Given the description of an element on the screen output the (x, y) to click on. 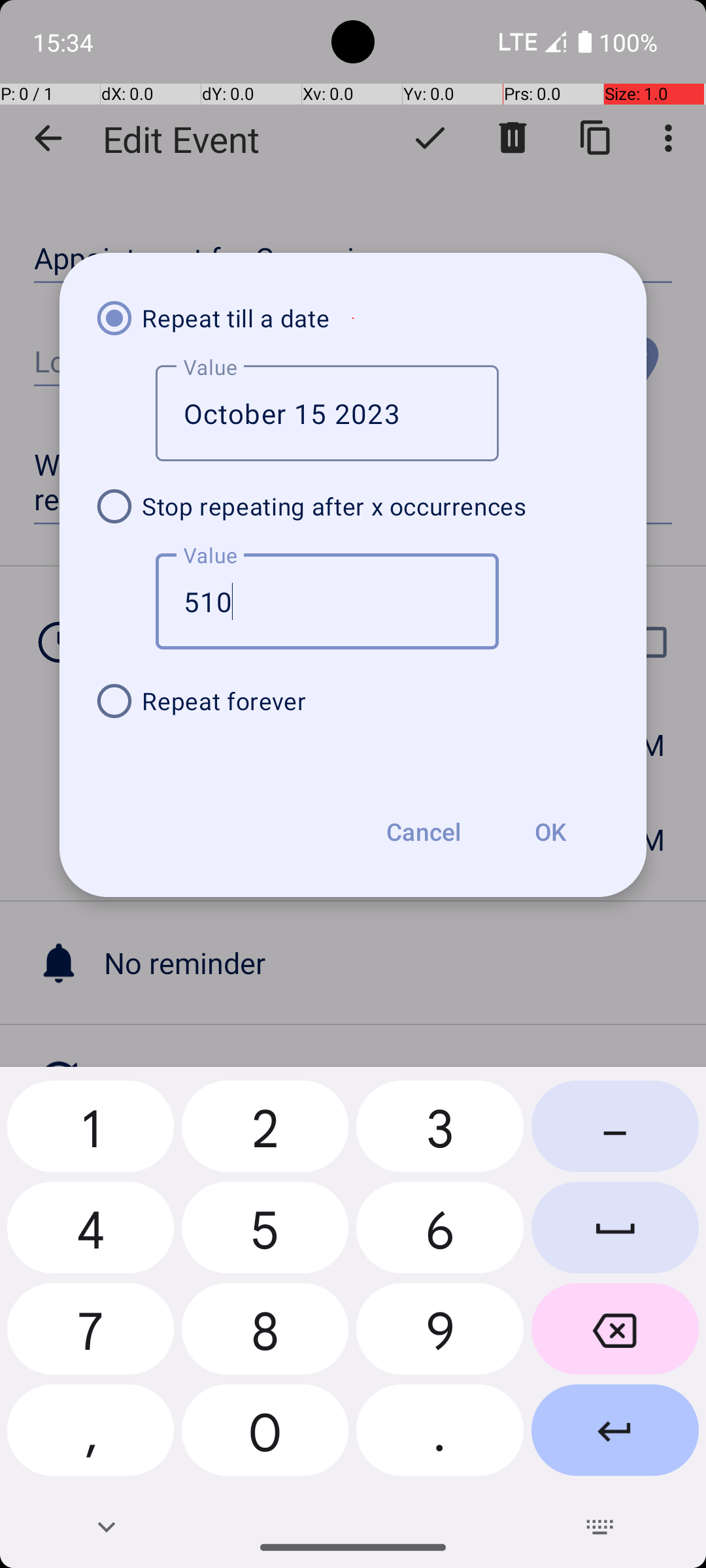
Repeat till a date Element type: android.widget.RadioButton (352, 318)
October 15 2023 Element type: android.widget.EditText (326, 413)
Stop repeating after x occurrences Element type: android.widget.RadioButton (352, 506)
510 Element type: android.widget.EditText (326, 601)
Repeat forever Element type: android.widget.RadioButton (352, 700)
